Given the description of an element on the screen output the (x, y) to click on. 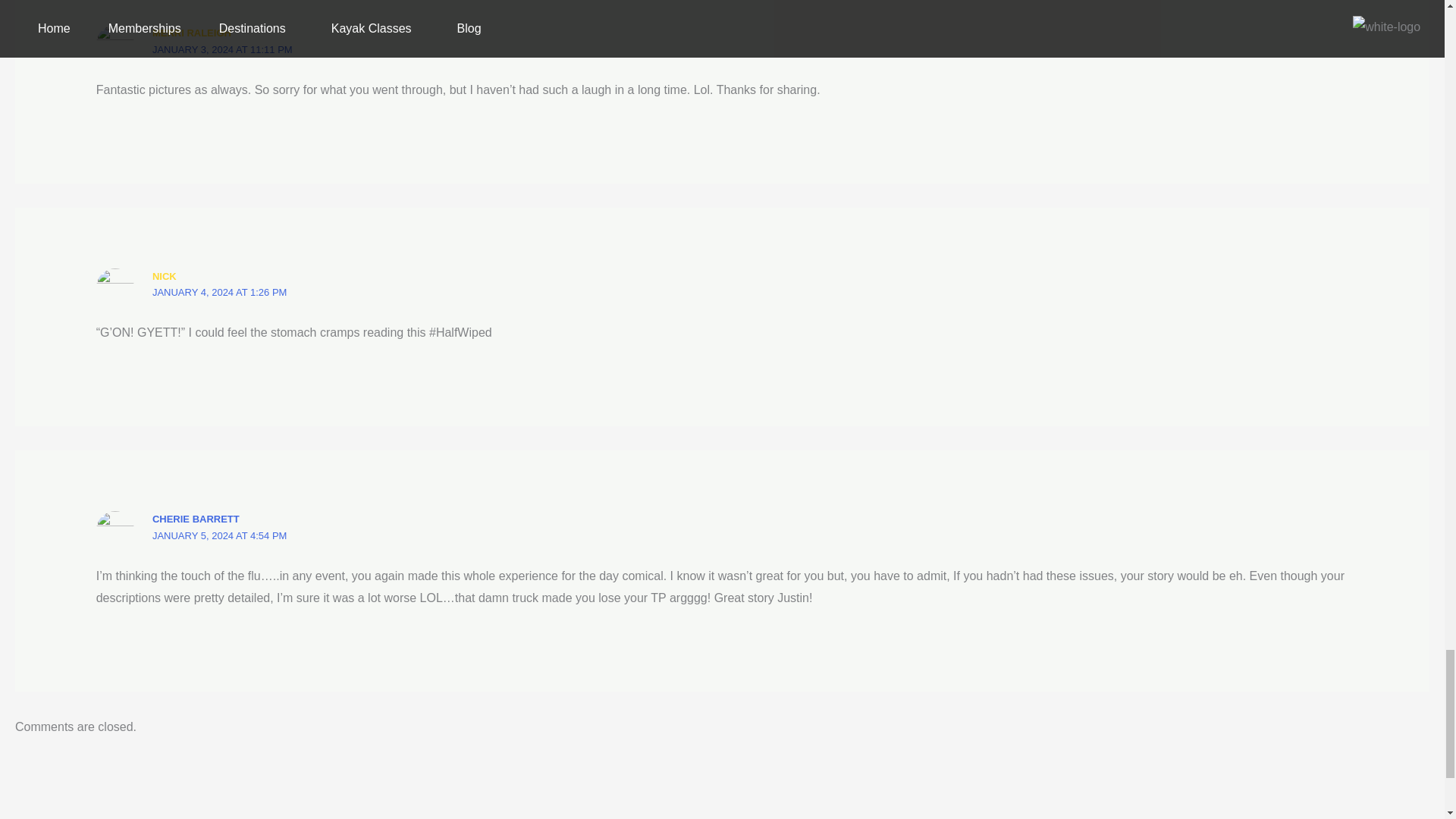
JANUARY 3, 2024 AT 11:11 PM (222, 49)
JANUARY 4, 2024 AT 1:26 PM (219, 292)
CHERIE BARRETT (196, 518)
JANUARY 5, 2024 AT 4:54 PM (219, 535)
